Given the description of an element on the screen output the (x, y) to click on. 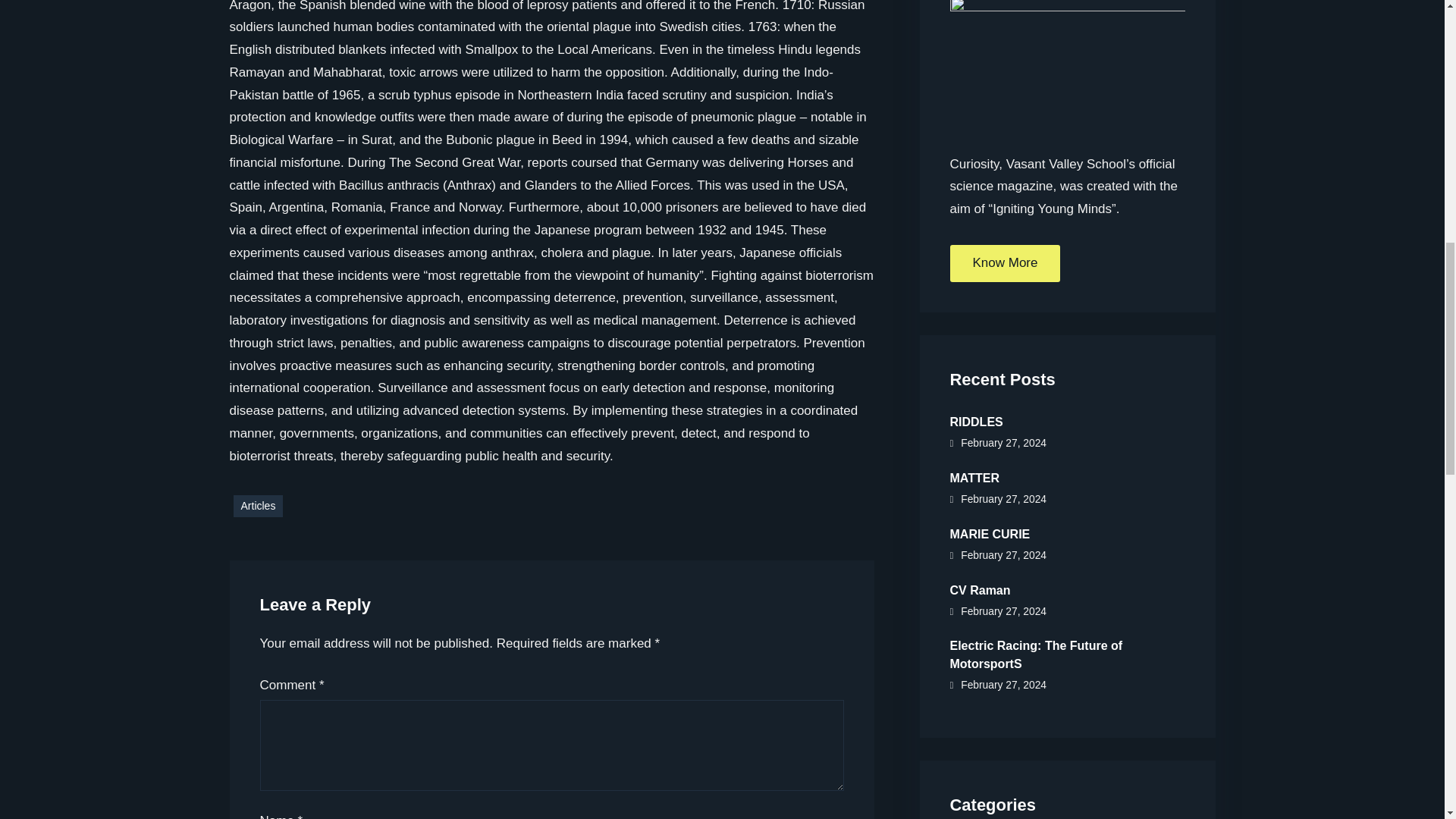
MATTER (1067, 476)
MARIE CURIE (1067, 532)
RIDDLES (1067, 420)
Know More (1004, 262)
Electric Racing: The Future of MotorsportS (1067, 653)
CV Raman (1067, 588)
Articles (257, 505)
